Given the description of an element on the screen output the (x, y) to click on. 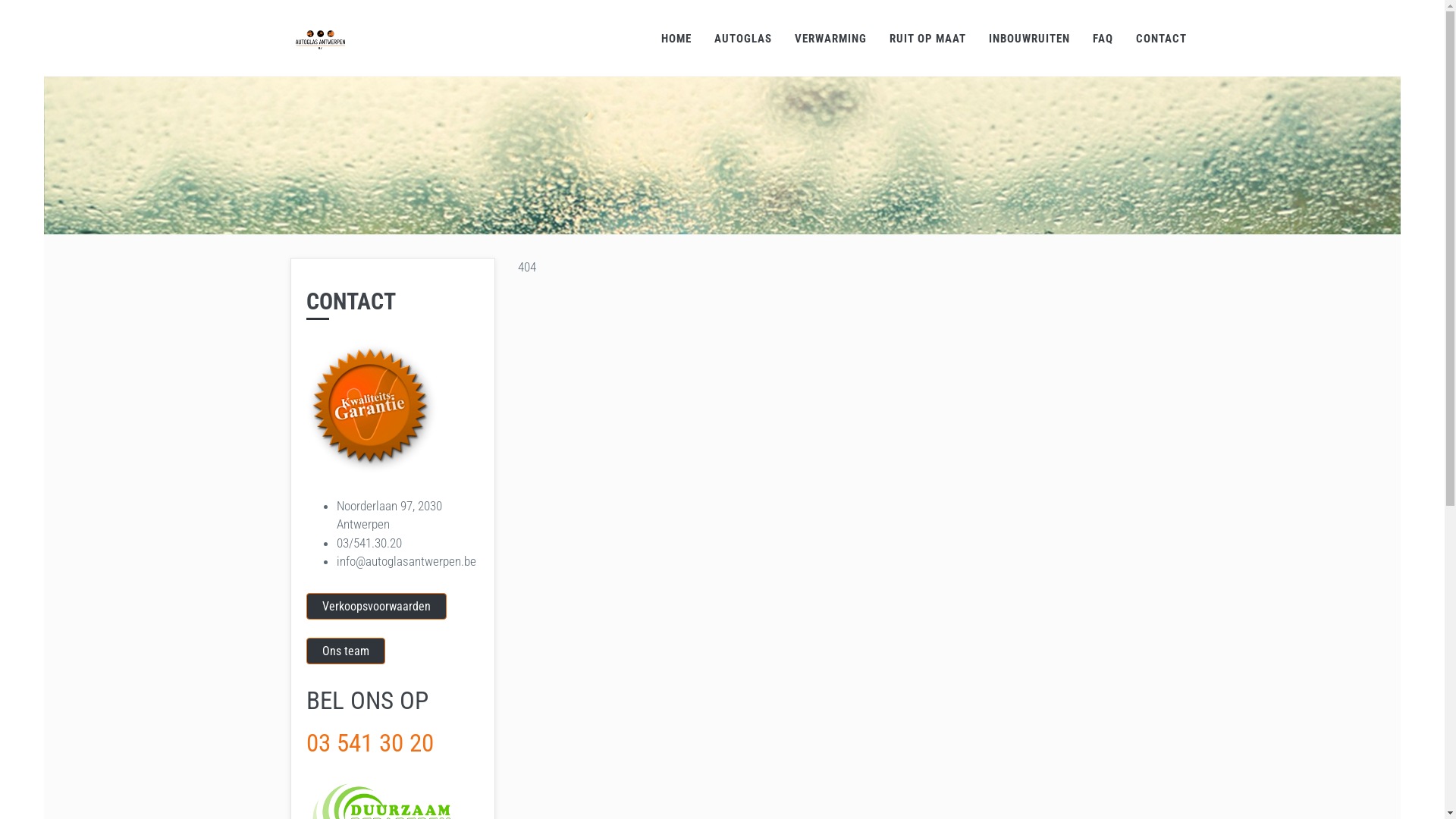
AUTOGLAS Element type: text (742, 37)
CONTACT Element type: text (1161, 37)
RUIT OP MAAT Element type: text (927, 37)
Verkoopsvoorwaarden Element type: text (376, 606)
INBOUWRUITEN Element type: text (1029, 37)
03 541 30 20 Element type: text (369, 742)
FAQ Element type: text (1102, 37)
HOME Element type: text (675, 37)
VERWARMING Element type: text (830, 37)
Ons team Element type: text (345, 650)
